Given the description of an element on the screen output the (x, y) to click on. 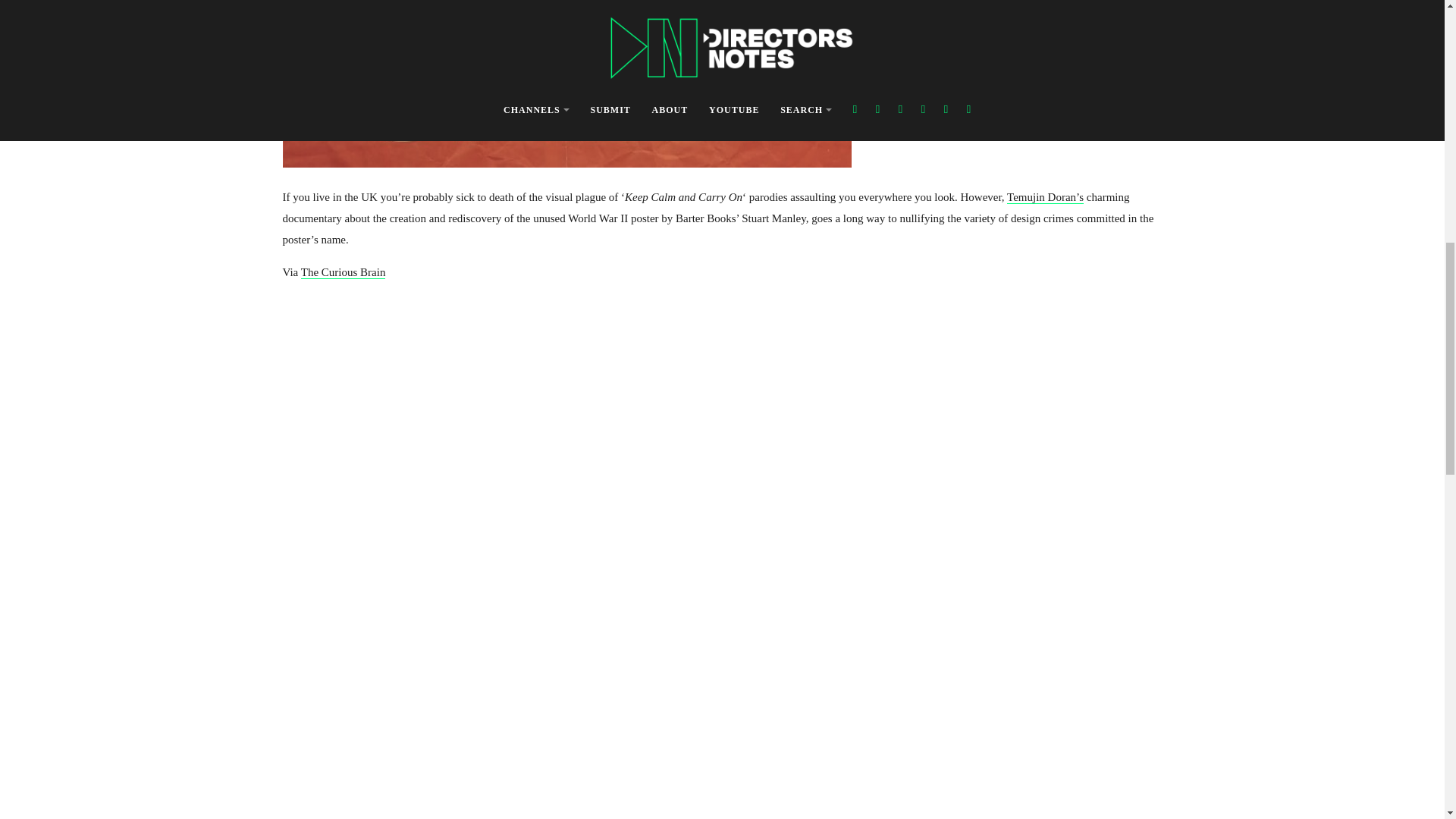
kcaco-1.jpg (566, 83)
The Curious Brain (343, 272)
